Given the description of an element on the screen output the (x, y) to click on. 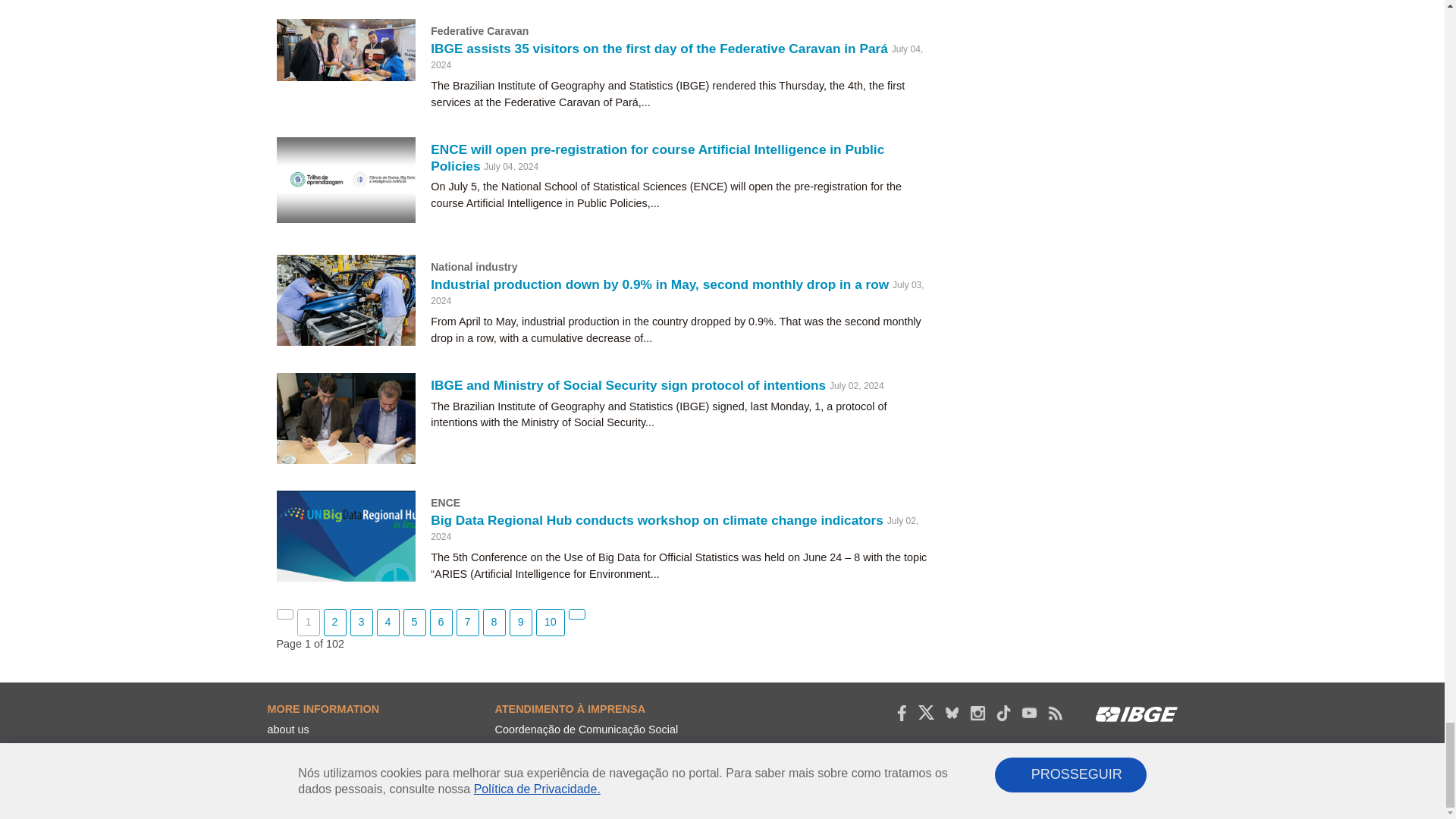
Twitter (925, 713)
